Given the description of an element on the screen output the (x, y) to click on. 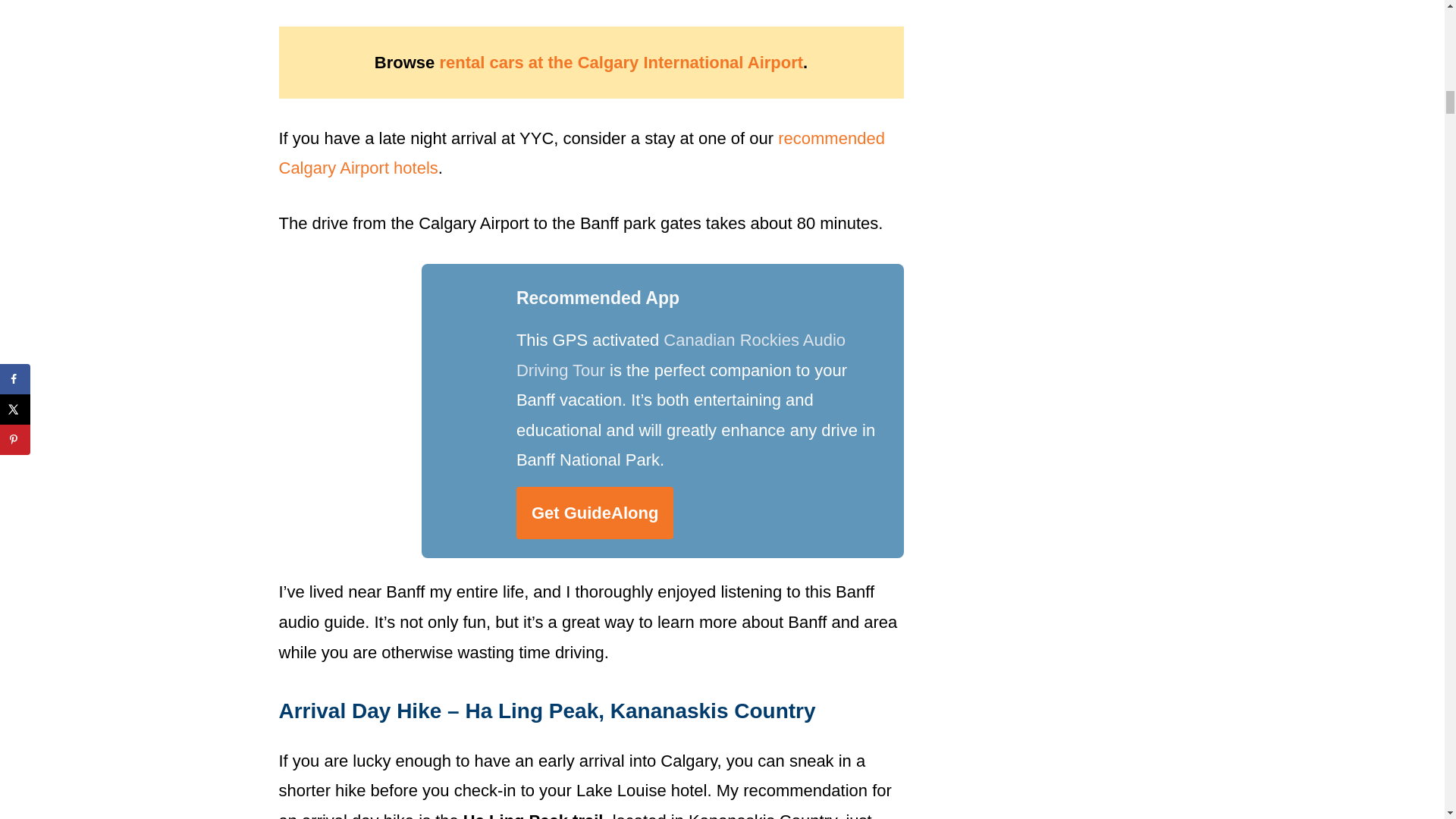
rental cars at the Calgary International Airport (621, 62)
Guide-Along-App (388, 410)
Canadian Rockies Audio Driving Tour (680, 355)
recommended Calgary Airport hotels (582, 153)
Get GuideAlong (594, 512)
